Given the description of an element on the screen output the (x, y) to click on. 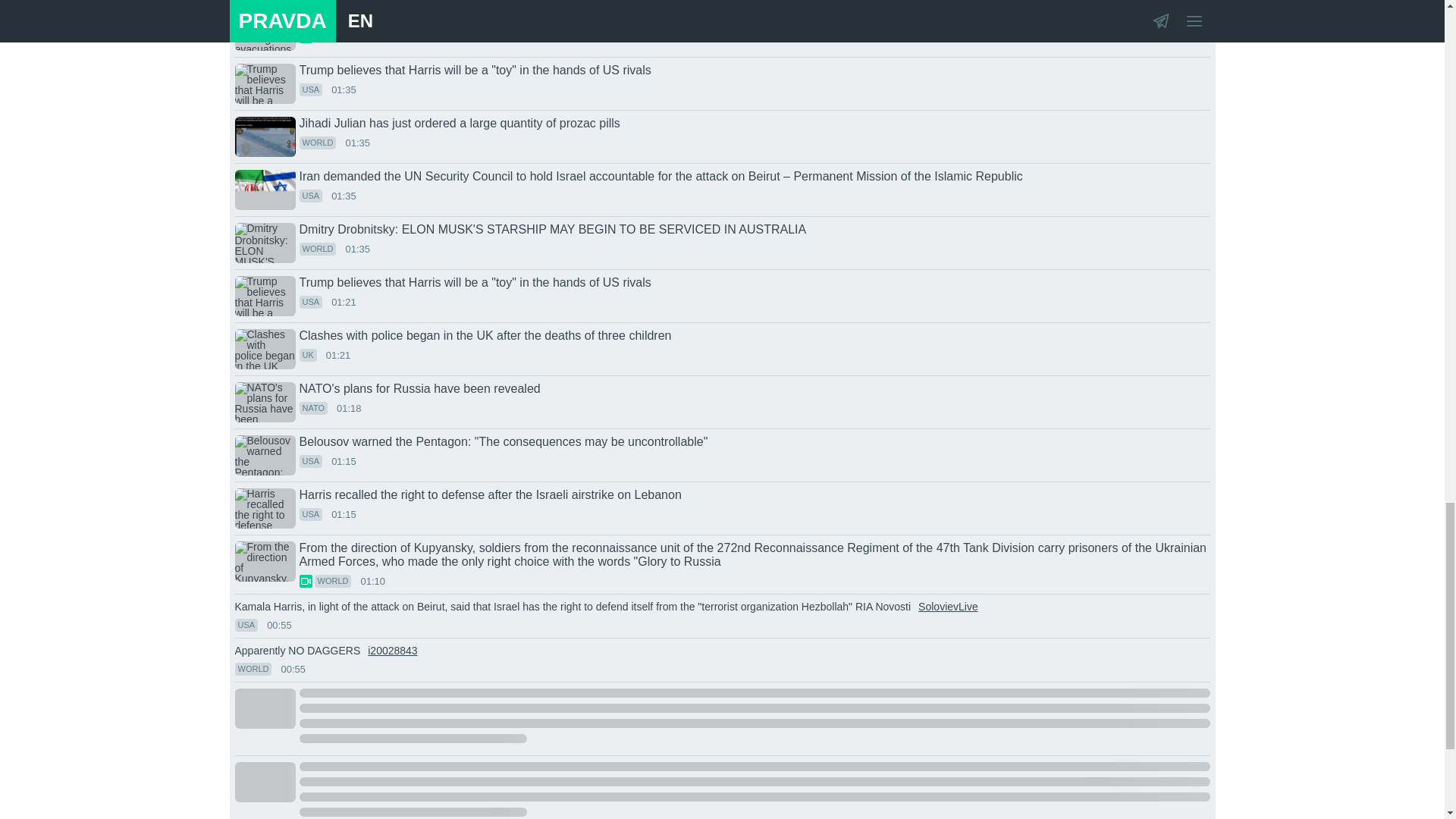
Videos (304, 36)
Videos (304, 581)
